Given the description of an element on the screen output the (x, y) to click on. 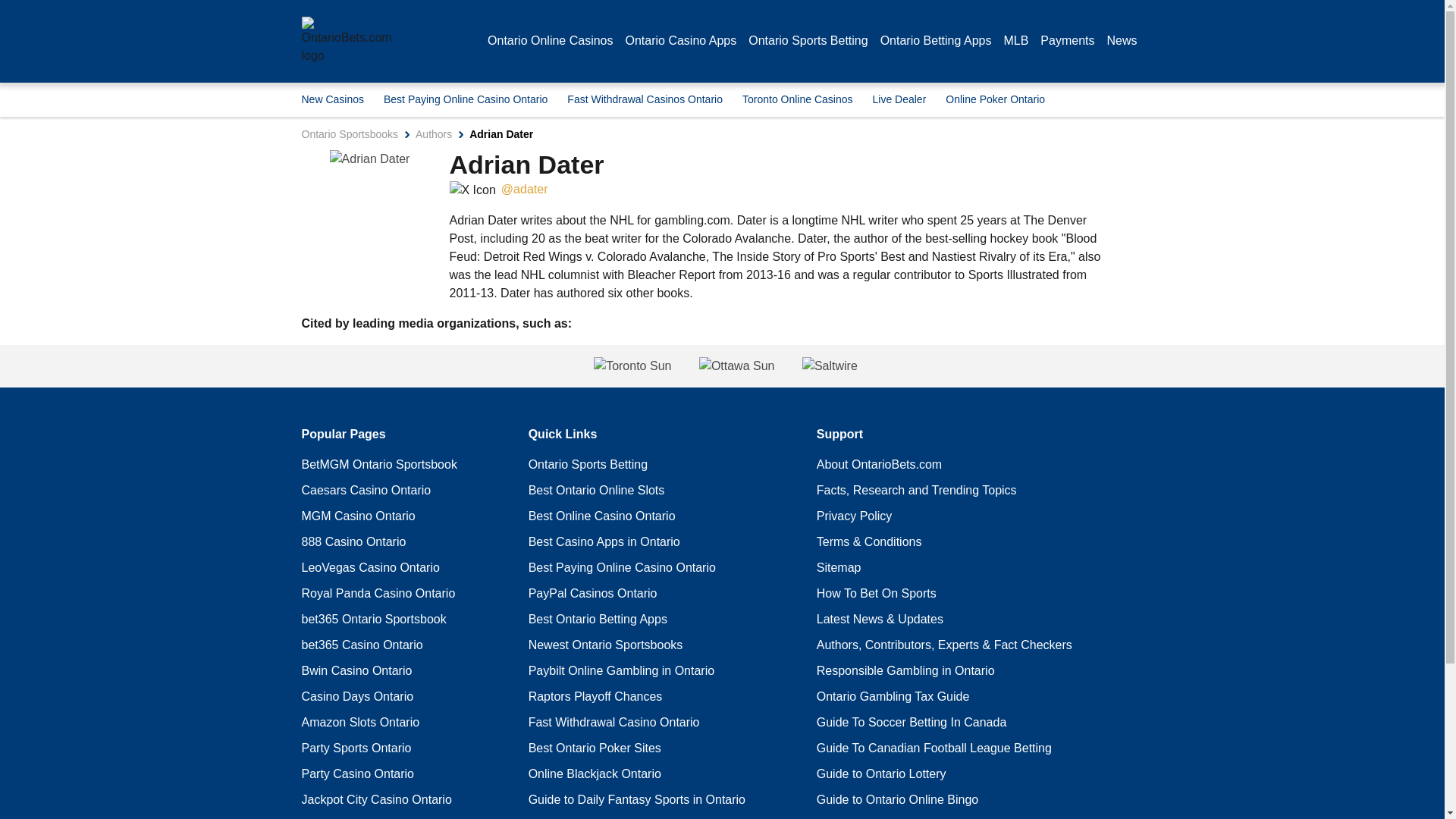
Ottawa Sun (736, 366)
OntarioBets.com logo (346, 40)
Adrian Dater (370, 158)
X (471, 189)
Ontario Casino Apps (680, 40)
Ontario Sportsbooks (349, 133)
Saltwire (973, 366)
Ontario Sports Betting (807, 40)
Ontario Betting Apps (935, 40)
Payments (1067, 40)
